Given the description of an element on the screen output the (x, y) to click on. 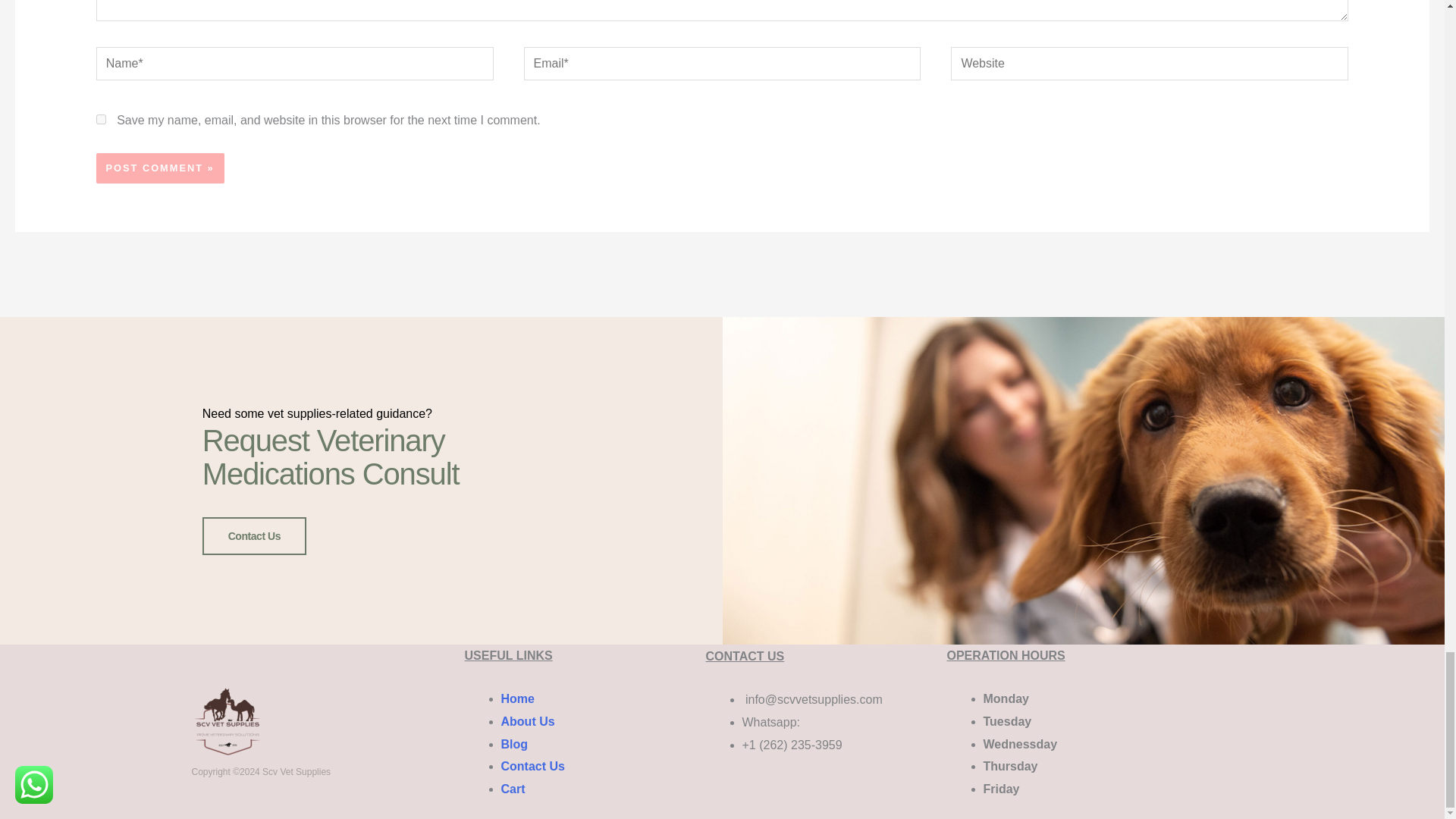
Contact Us (532, 766)
Cart (512, 788)
Blog (513, 744)
About Us (527, 721)
Home (517, 698)
Contact Us (253, 535)
yes (101, 119)
